Given the description of an element on the screen output the (x, y) to click on. 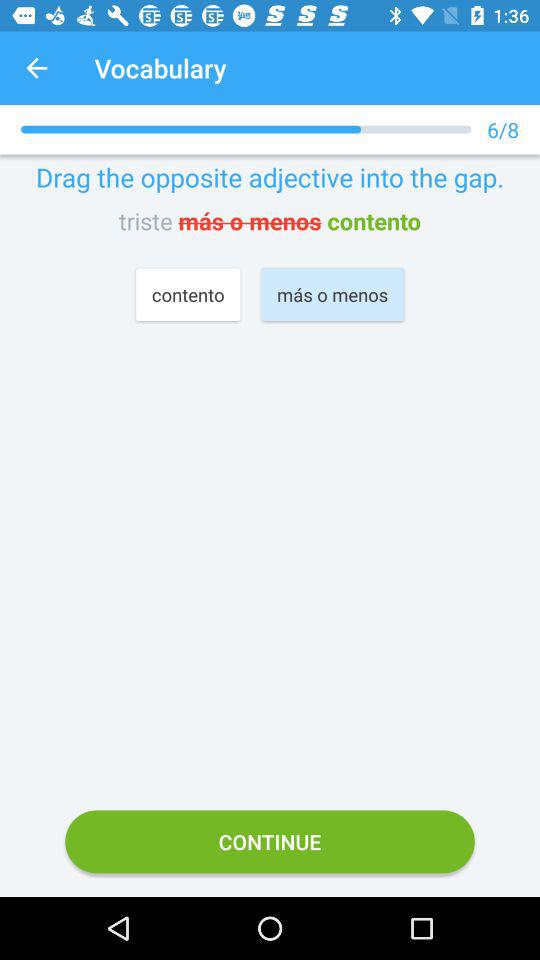
swipe until continue (269, 841)
